Given the description of an element on the screen output the (x, y) to click on. 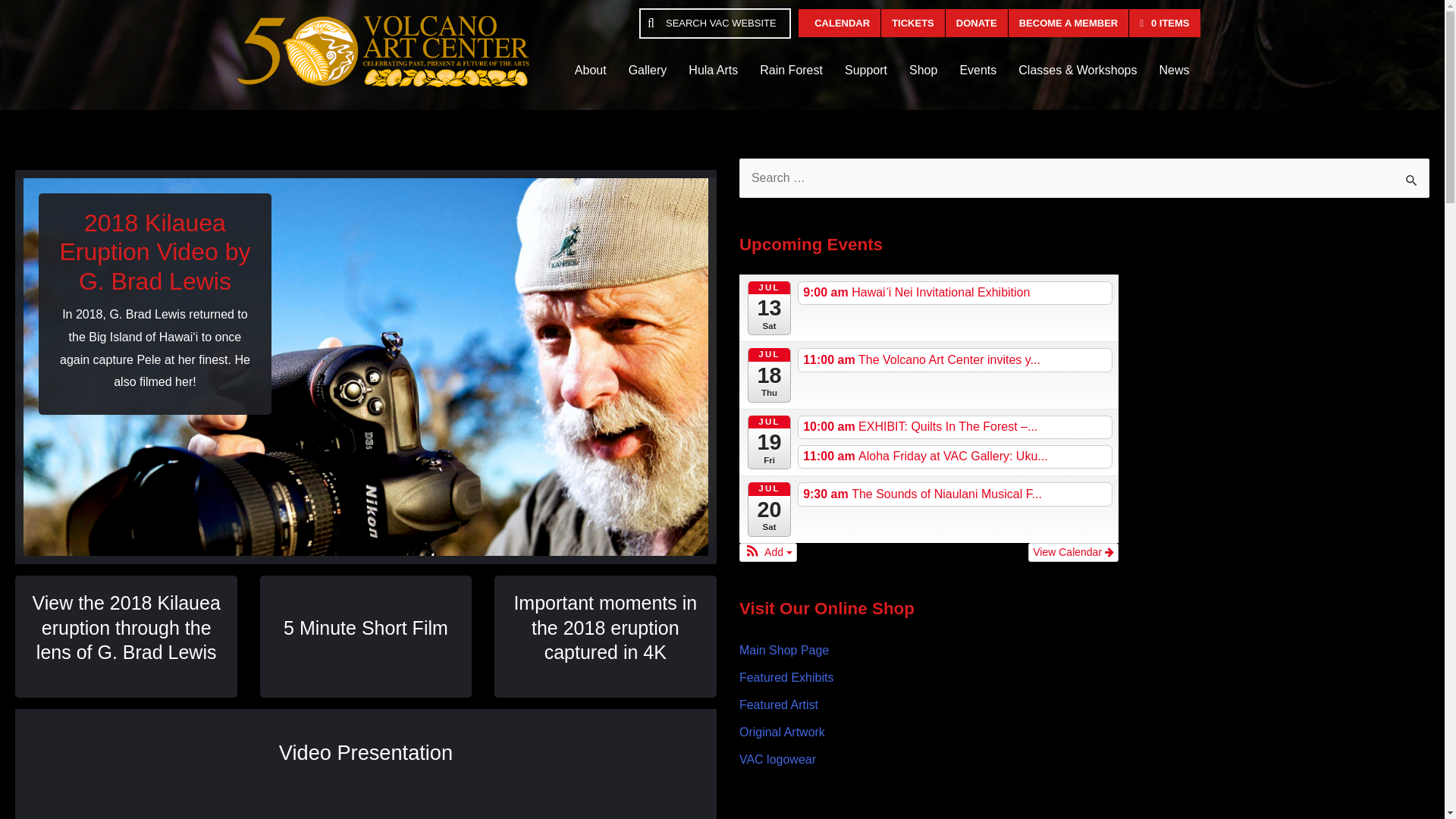
Search (1411, 179)
Support (866, 70)
0 ITEMS (1164, 22)
About (590, 70)
TICKETS (912, 22)
Gallery (647, 70)
Start shopping (1164, 22)
2018 Eruption Film From Brad Lewis (365, 807)
VAC 50th Logo Master Website Header (380, 51)
  CALENDAR (838, 22)
Shop (922, 70)
DONATE (975, 22)
Rain Forest (790, 70)
Hula Arts (713, 70)
Search (1411, 179)
